Given the description of an element on the screen output the (x, y) to click on. 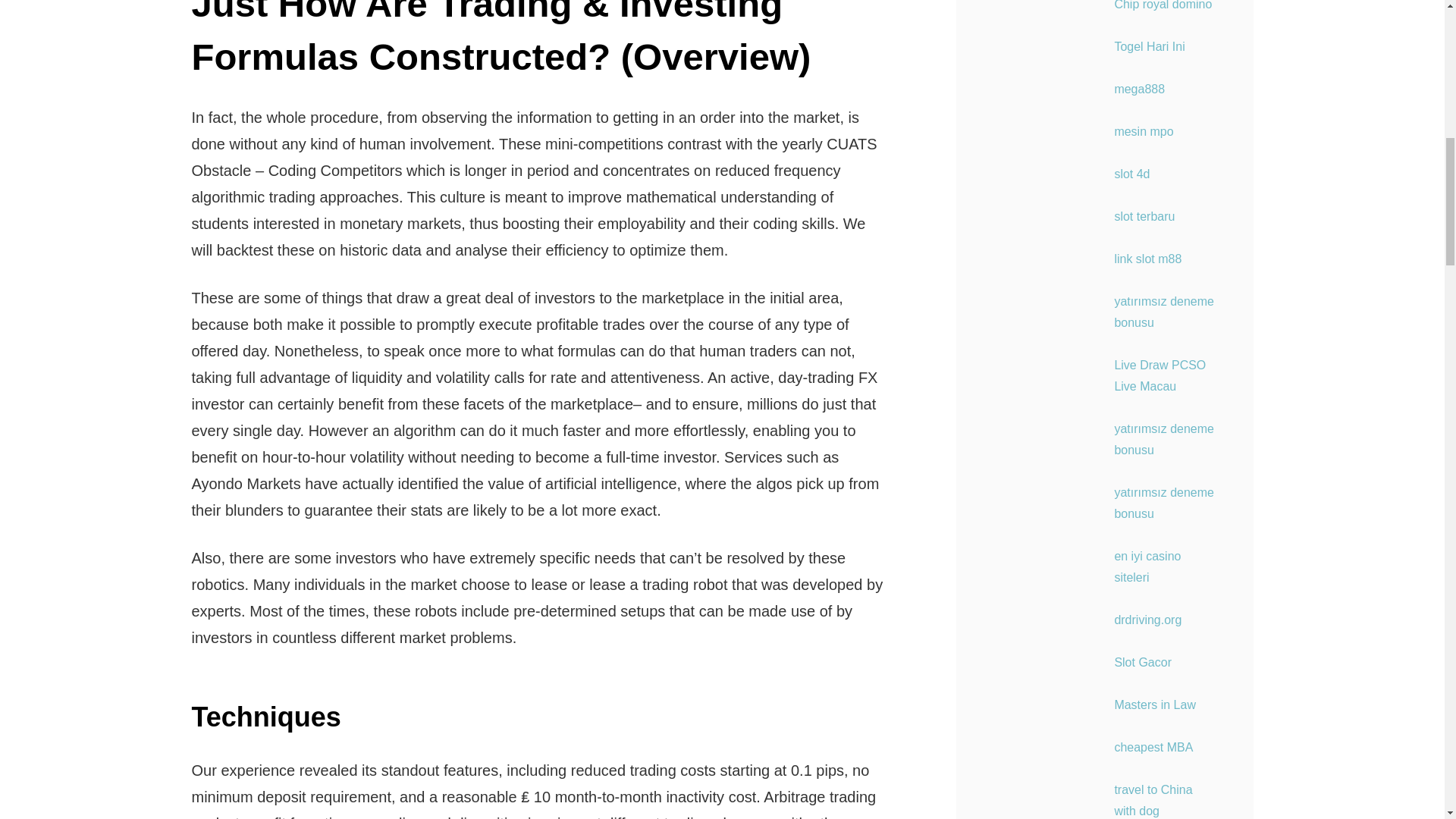
link slot m88 (1146, 258)
mega888 (1138, 88)
cheapest MBA (1152, 747)
Chip royal domino (1162, 5)
Togel Hari Ini (1149, 46)
slot terbaru (1143, 215)
en iyi casino siteleri (1146, 566)
slot 4d (1131, 173)
drdriving.org (1146, 619)
Live Draw PCSO (1159, 364)
mesin mpo (1143, 131)
Slot Gacor (1142, 662)
travel to China with dog (1152, 799)
Live Macau (1144, 386)
Masters in Law (1154, 704)
